Given the description of an element on the screen output the (x, y) to click on. 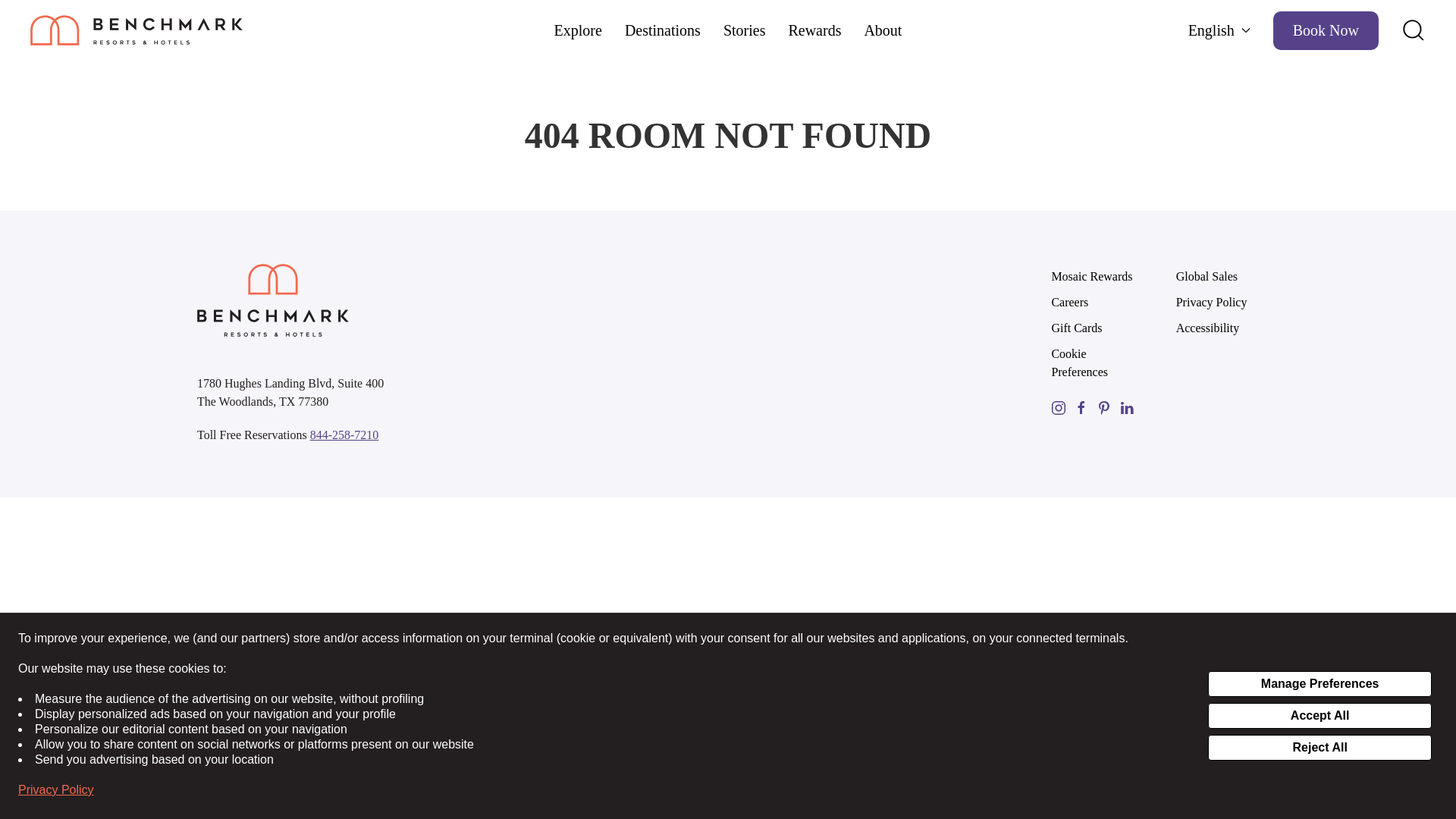
Cookie Preferences (1092, 362)
Mosaic Rewards (1092, 276)
844-258-7210 (344, 434)
Destinations (662, 30)
Privacy Policy (1217, 302)
Gift Cards (1092, 328)
Book Now (1325, 29)
Global Sales (1217, 276)
Search (1412, 30)
Careers (1092, 302)
Accessibility (1217, 328)
English (1219, 30)
